Given the description of an element on the screen output the (x, y) to click on. 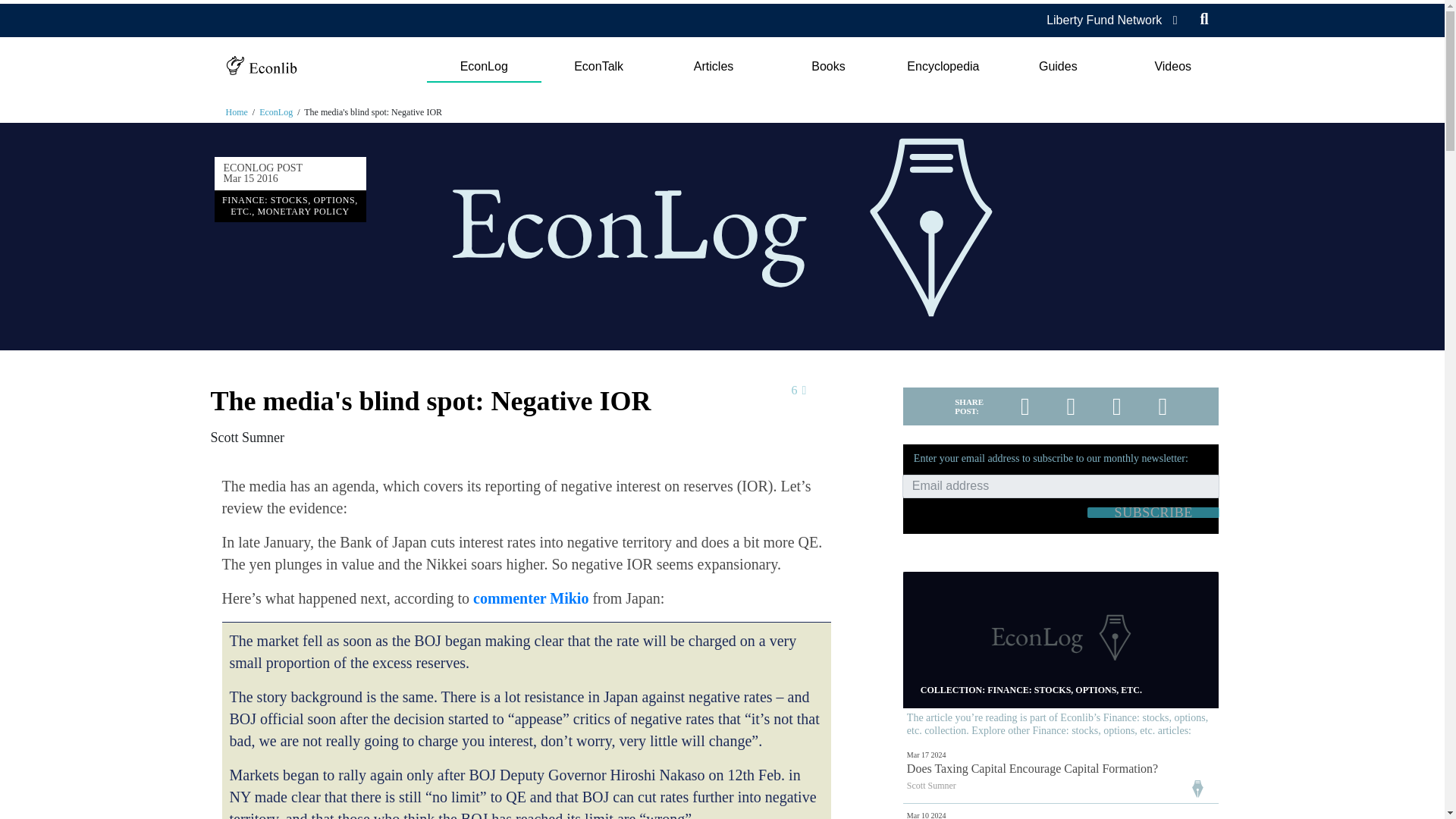
EconLog (483, 67)
Subscribe (1153, 511)
Scott Sumner (248, 437)
Books (828, 66)
Articles (713, 66)
Encyclopedia (942, 66)
EconTalk (598, 66)
Liberty Fund Network (1104, 20)
